Given the description of an element on the screen output the (x, y) to click on. 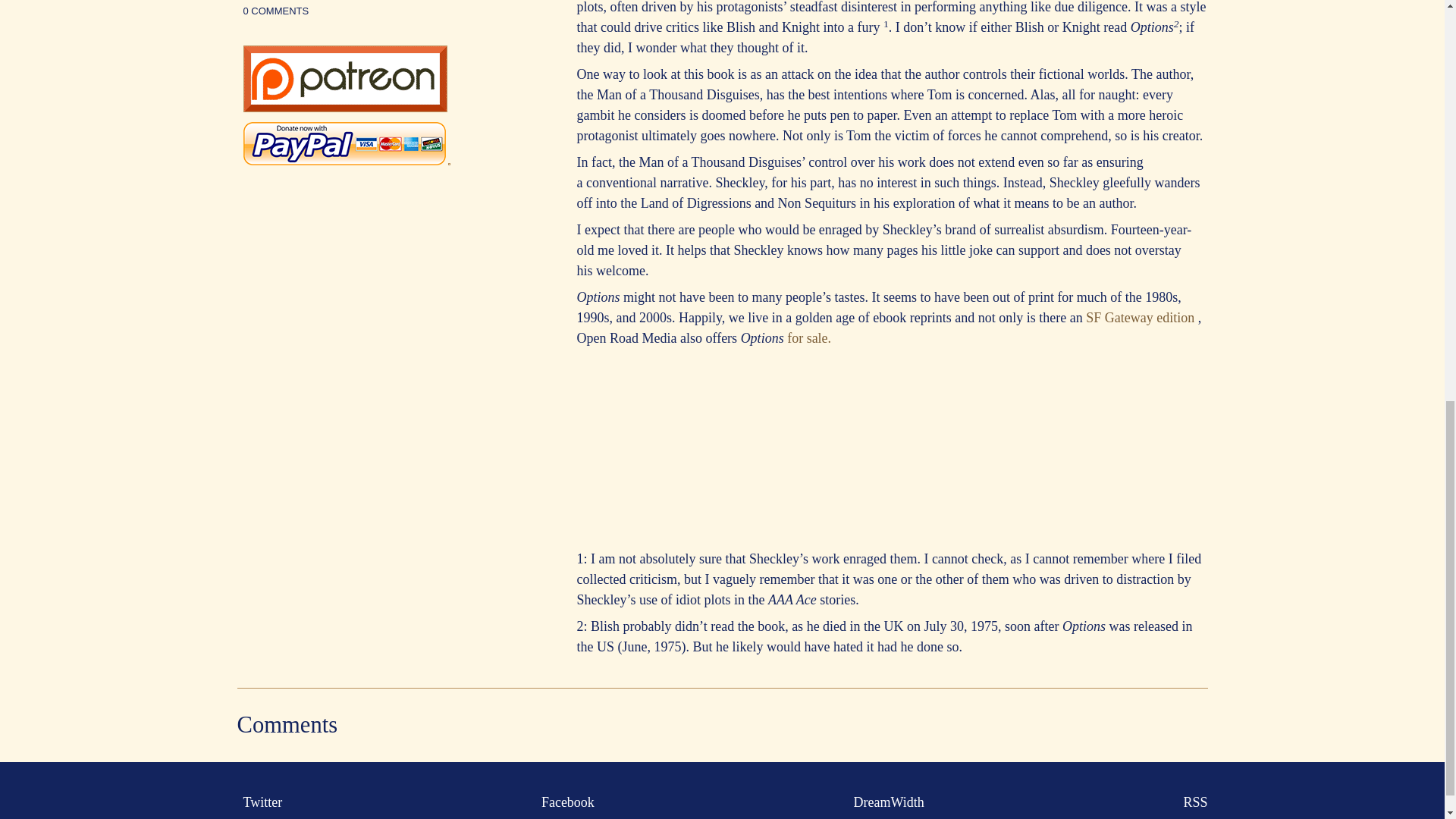
for sale. (809, 337)
Twitter (258, 801)
Patreon (344, 107)
RSS (1191, 801)
SF Gateway edition (1141, 317)
Facebook (564, 801)
DreamWidth (885, 801)
